Given the description of an element on the screen output the (x, y) to click on. 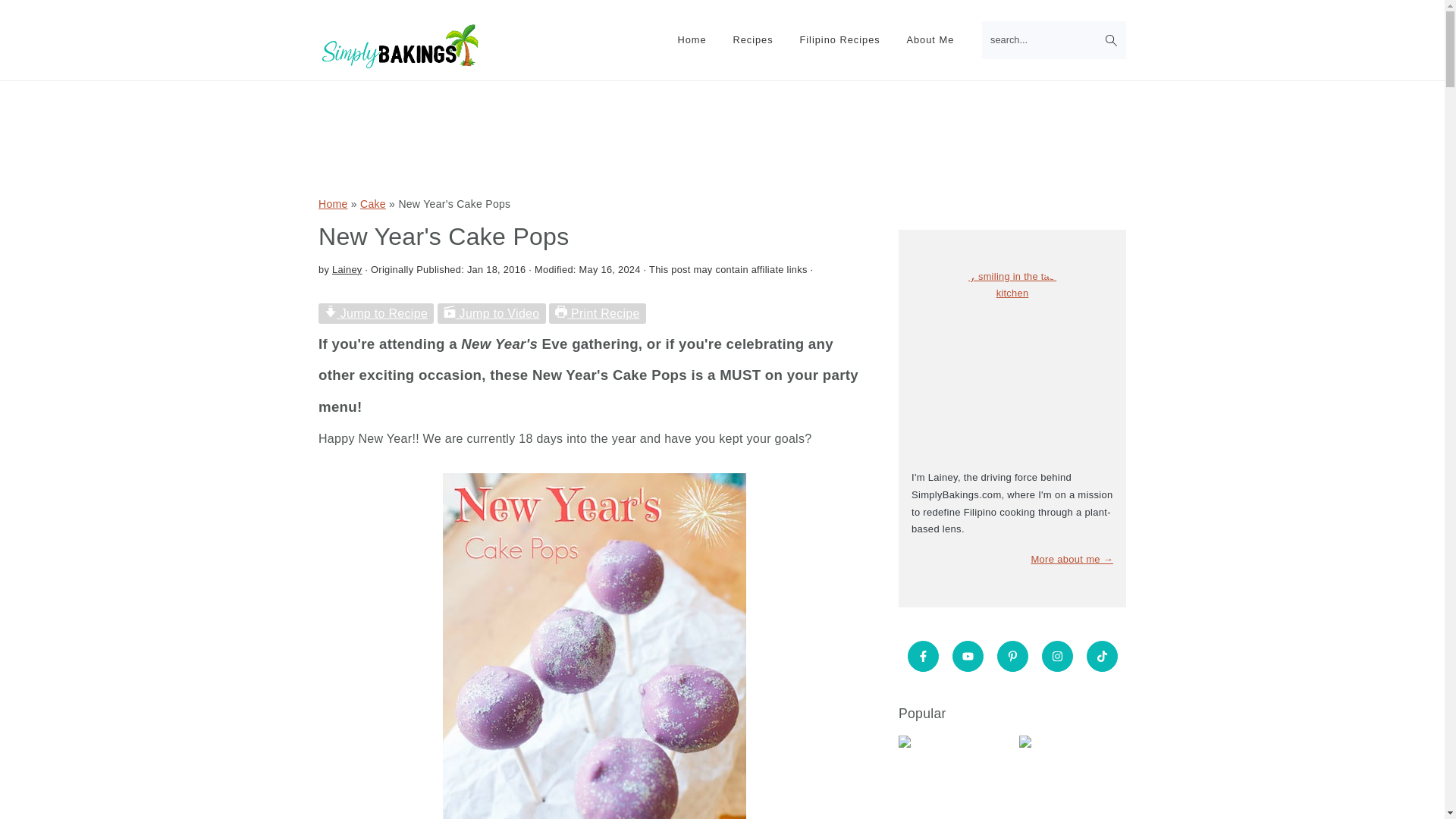
About Me (930, 40)
Simply Bakings (399, 67)
Simply Bakings (399, 47)
Print Recipe (597, 313)
Cake (372, 203)
Filipino Recipes (839, 40)
Jump to Video (492, 313)
Recipes (752, 40)
Jump to Recipe (375, 313)
Home (691, 40)
Lainey (346, 269)
Jump to Recipe (375, 313)
Home (332, 203)
